Given the description of an element on the screen output the (x, y) to click on. 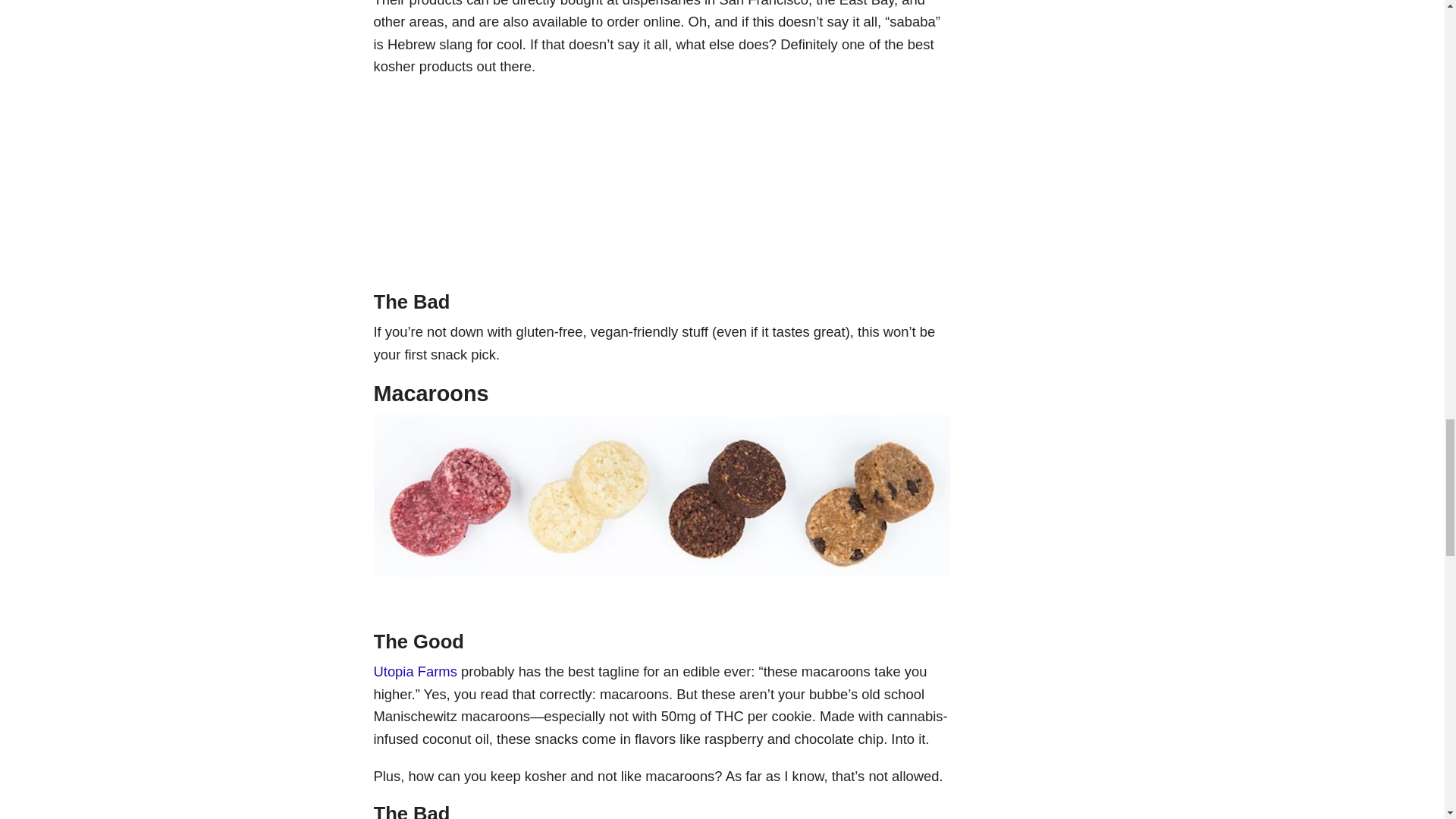
3rd party ad content (660, 187)
